Given the description of an element on the screen output the (x, y) to click on. 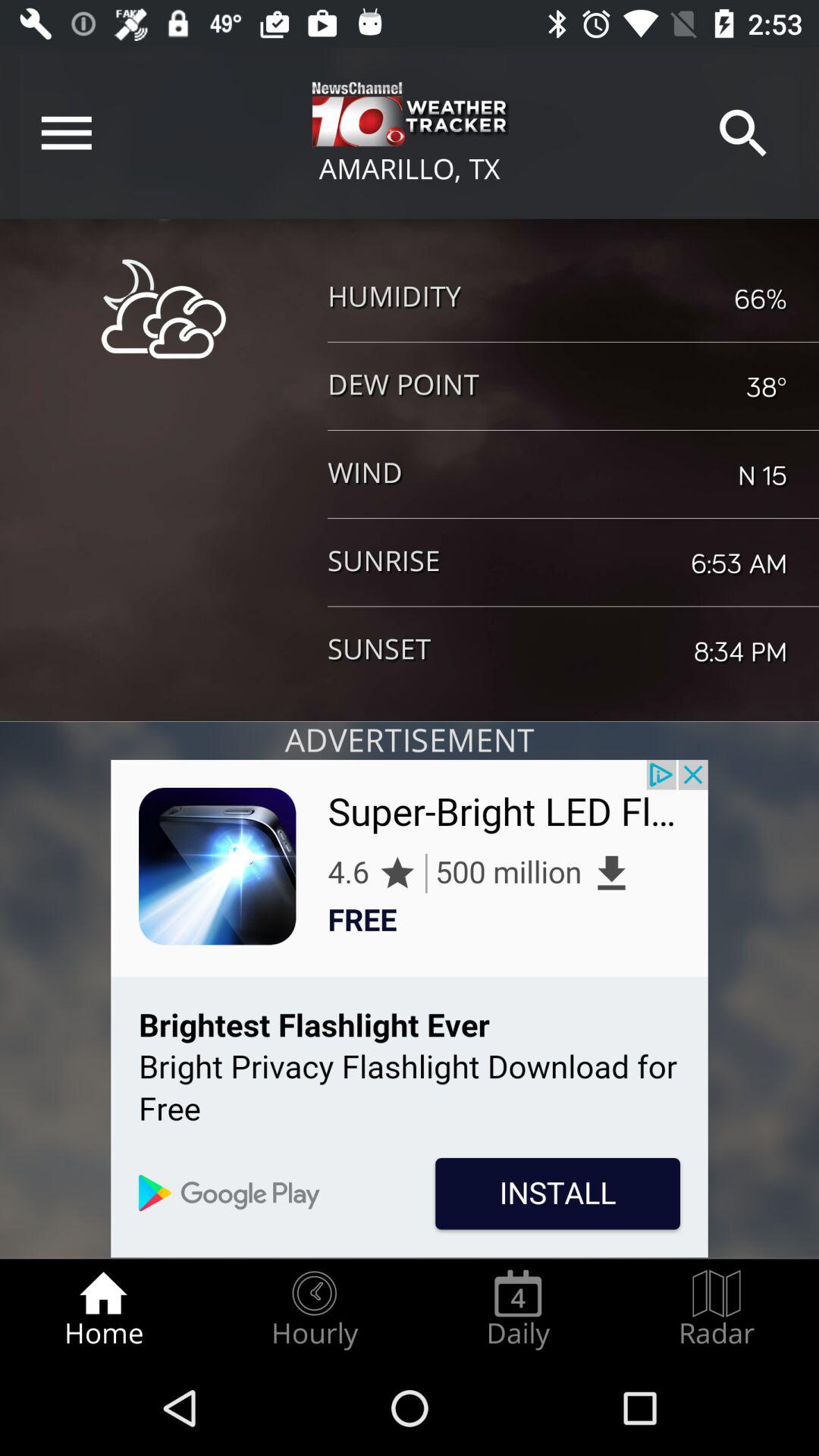
turn on the radio button next to the daily radio button (716, 1309)
